Given the description of an element on the screen output the (x, y) to click on. 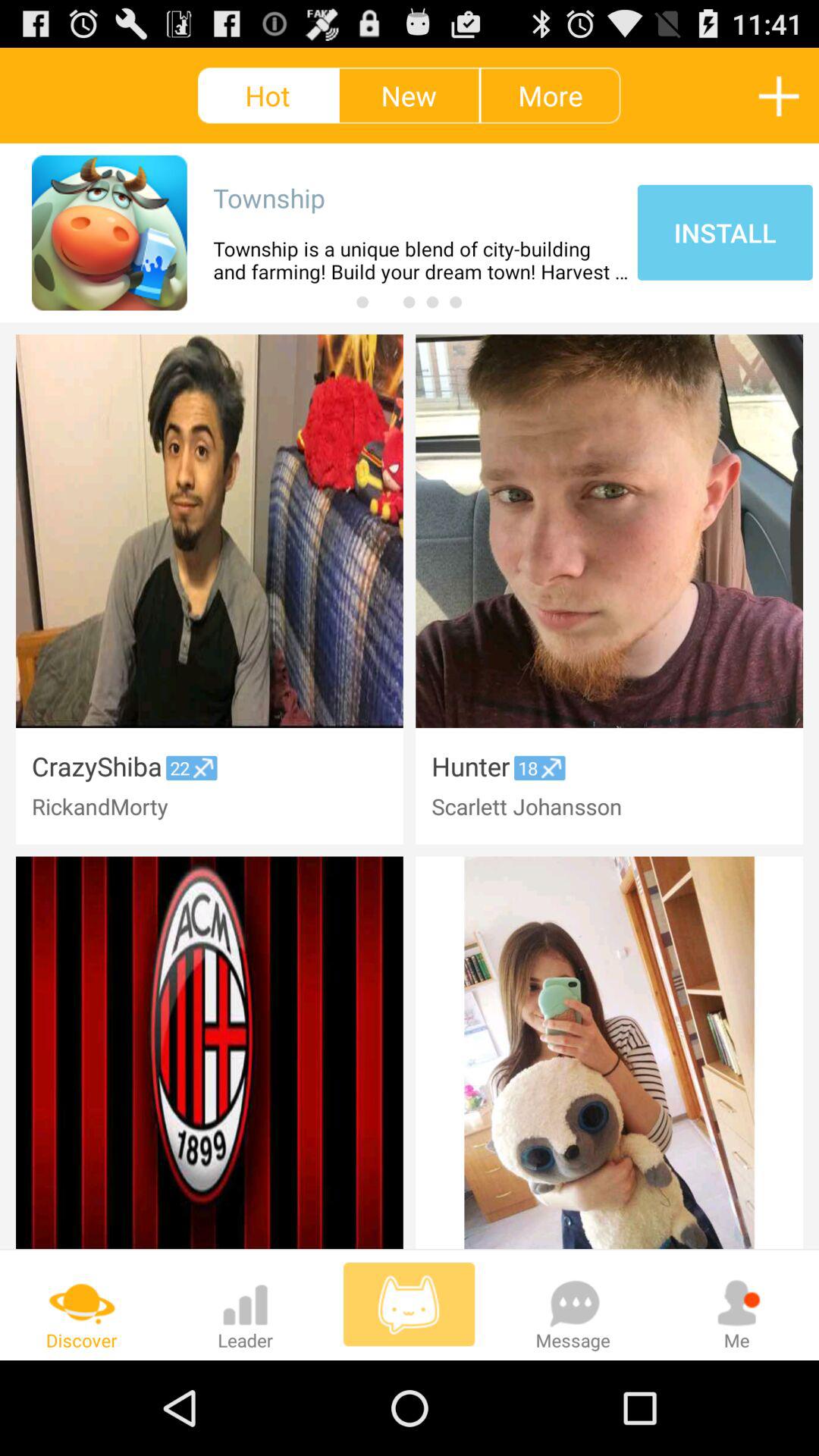
click on hot (267, 94)
click on cat symbol (409, 1303)
click on second row first image (209, 1053)
select message in the bottom (573, 1304)
choose the icon above discover (81, 1302)
